Given the description of an element on the screen output the (x, y) to click on. 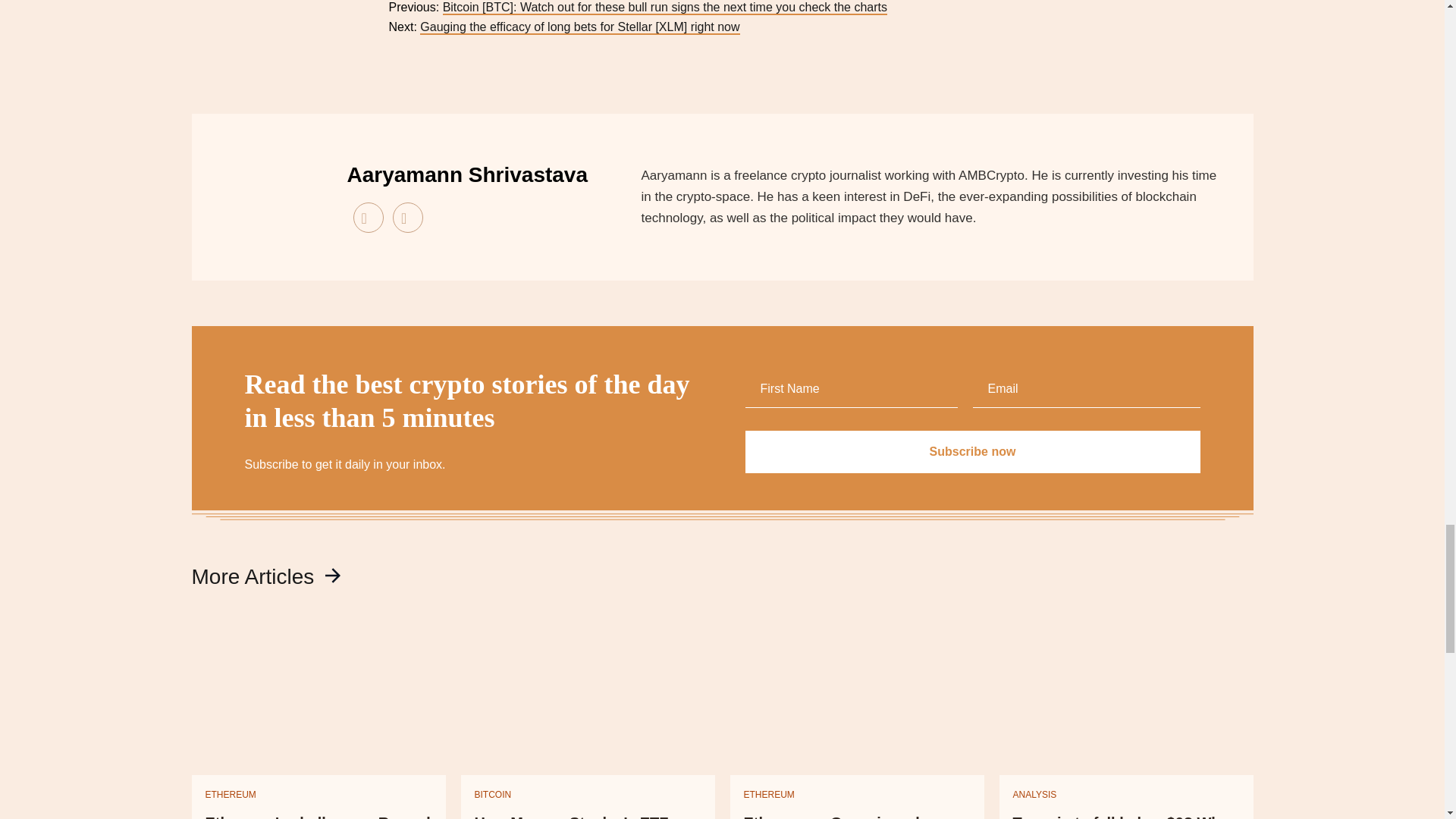
Subscribe now (971, 451)
